Given the description of an element on the screen output the (x, y) to click on. 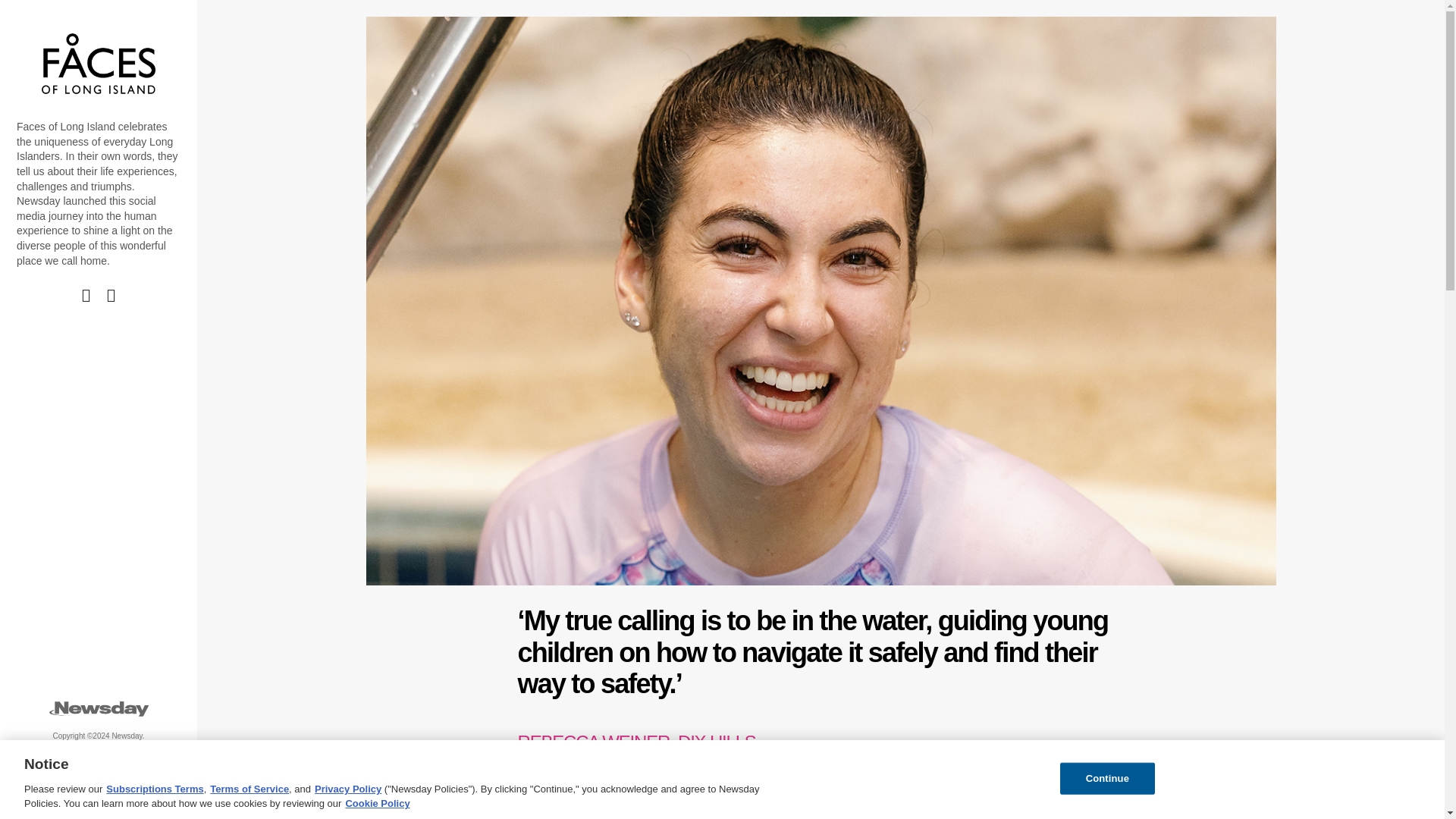
Continue (1106, 778)
Terms of Service (248, 788)
Cookie Policy (377, 803)
Privacy Policy (347, 788)
Subscriptions Terms (154, 788)
